Given the description of an element on the screen output the (x, y) to click on. 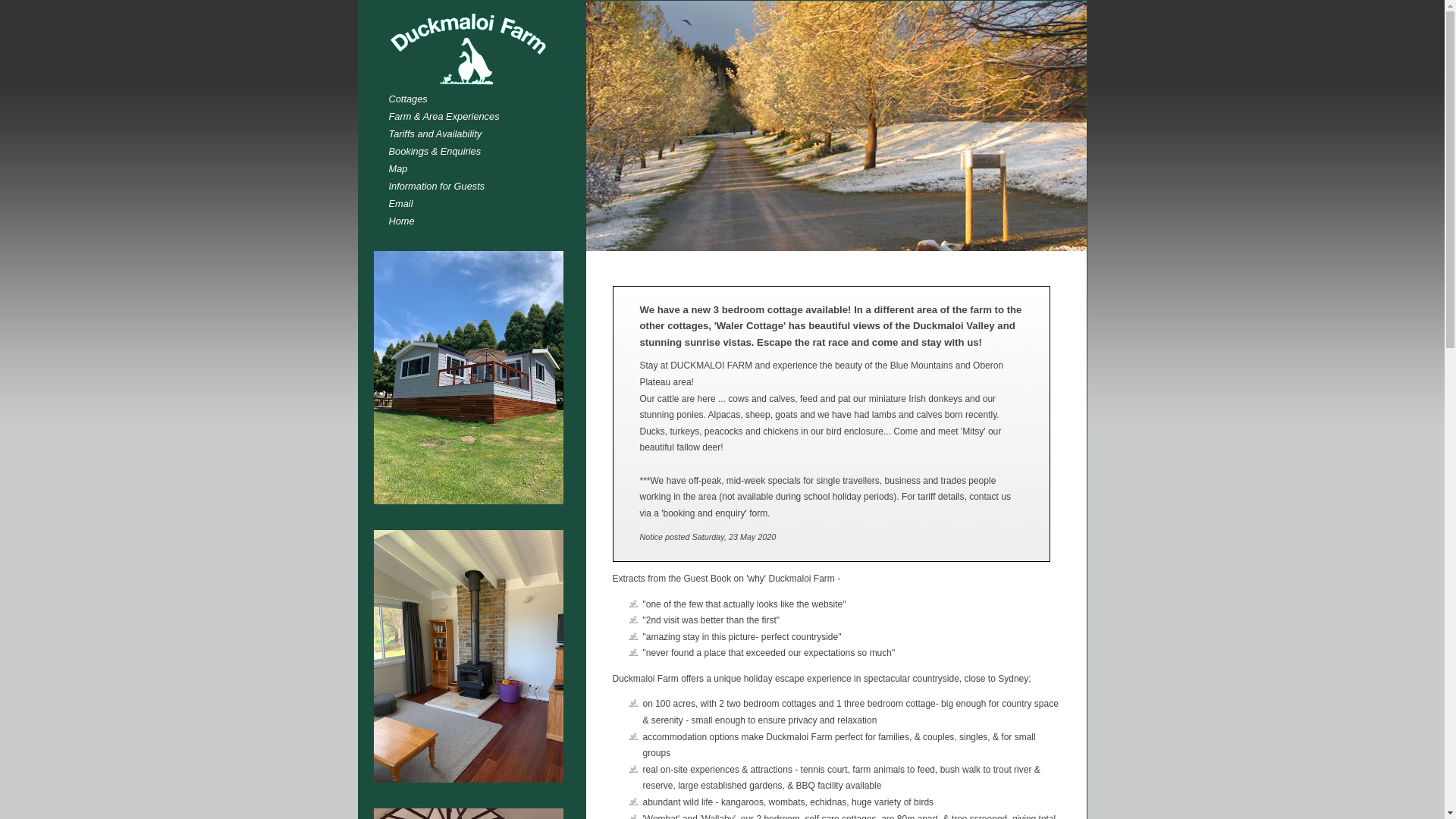
Tariffs and Availability Element type: text (475, 133)
Information for Guests Element type: text (475, 185)
Map Element type: text (475, 168)
Bookings & Enquiries Element type: text (475, 151)
Farm & Area Experiences Element type: text (475, 116)
Email Element type: text (475, 203)
Home Element type: text (475, 220)
Cottages Element type: text (475, 98)
